Given the description of an element on the screen output the (x, y) to click on. 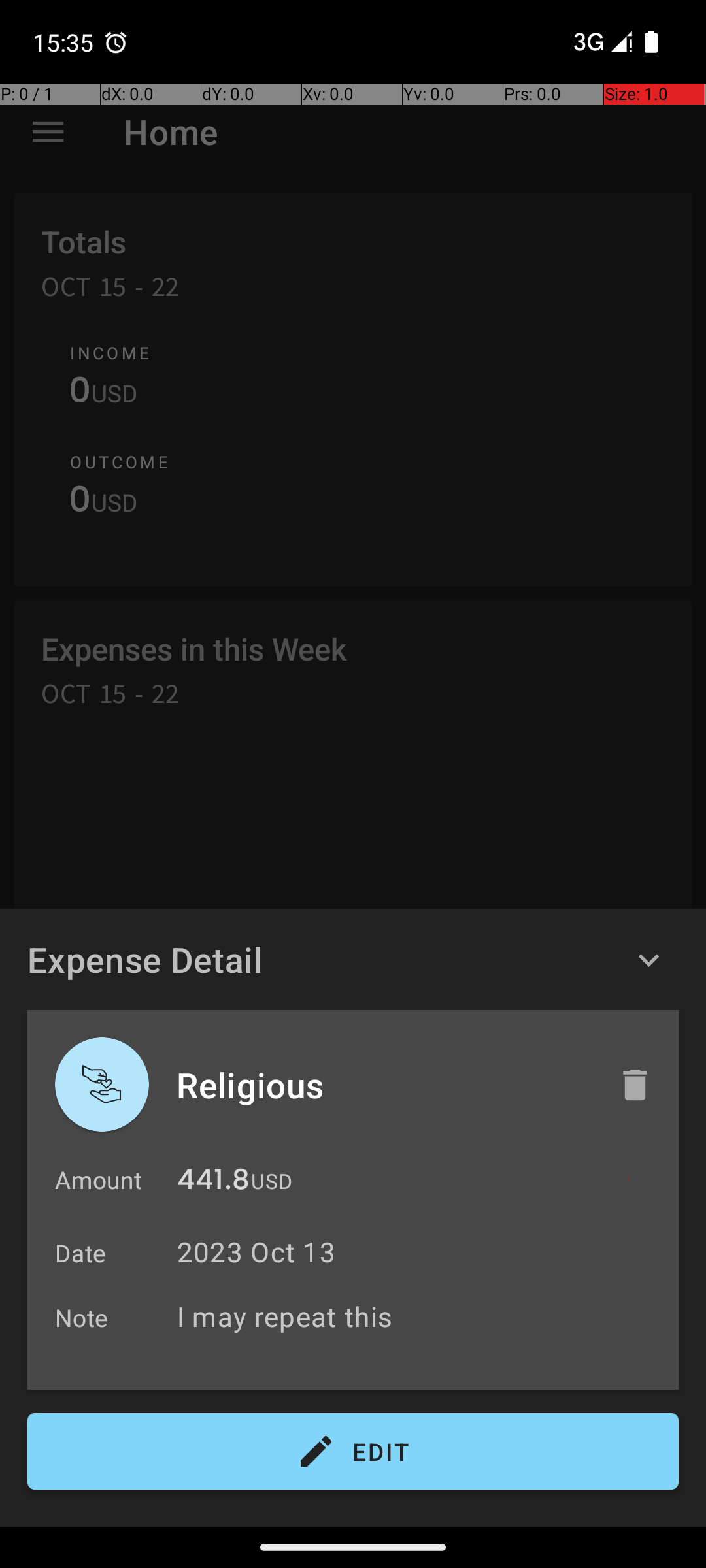
Religious Element type: android.widget.TextView (383, 1084)
441.8 Element type: android.widget.TextView (213, 1182)
